Given the description of an element on the screen output the (x, y) to click on. 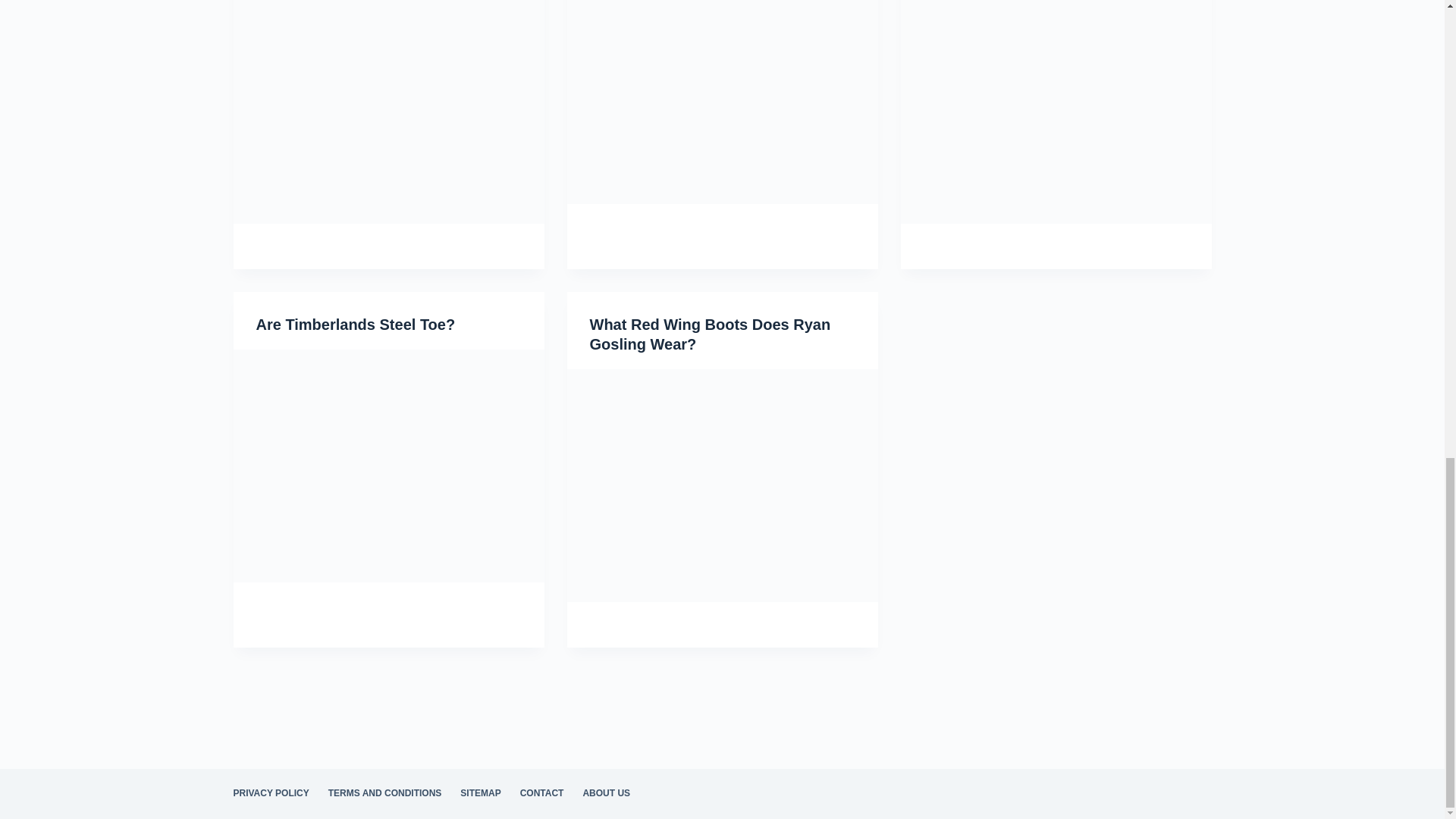
What Red Wing Boots Does Ryan Gosling Wear? 11 (722, 485)
Wearing the Right Clothing to a Minimum Wage Job Interview 7 (388, 111)
Are Doc Martens Non Slip? 8 (722, 101)
Are Timberlands Steel Toe? 10 (388, 466)
How to Prevent Polo Shirts From Shrinking a Guide 9 (1056, 111)
Are Timberlands Steel Toe? (355, 324)
What Red Wing Boots Does Ryan Gosling Wear? (710, 334)
